Given the description of an element on the screen output the (x, y) to click on. 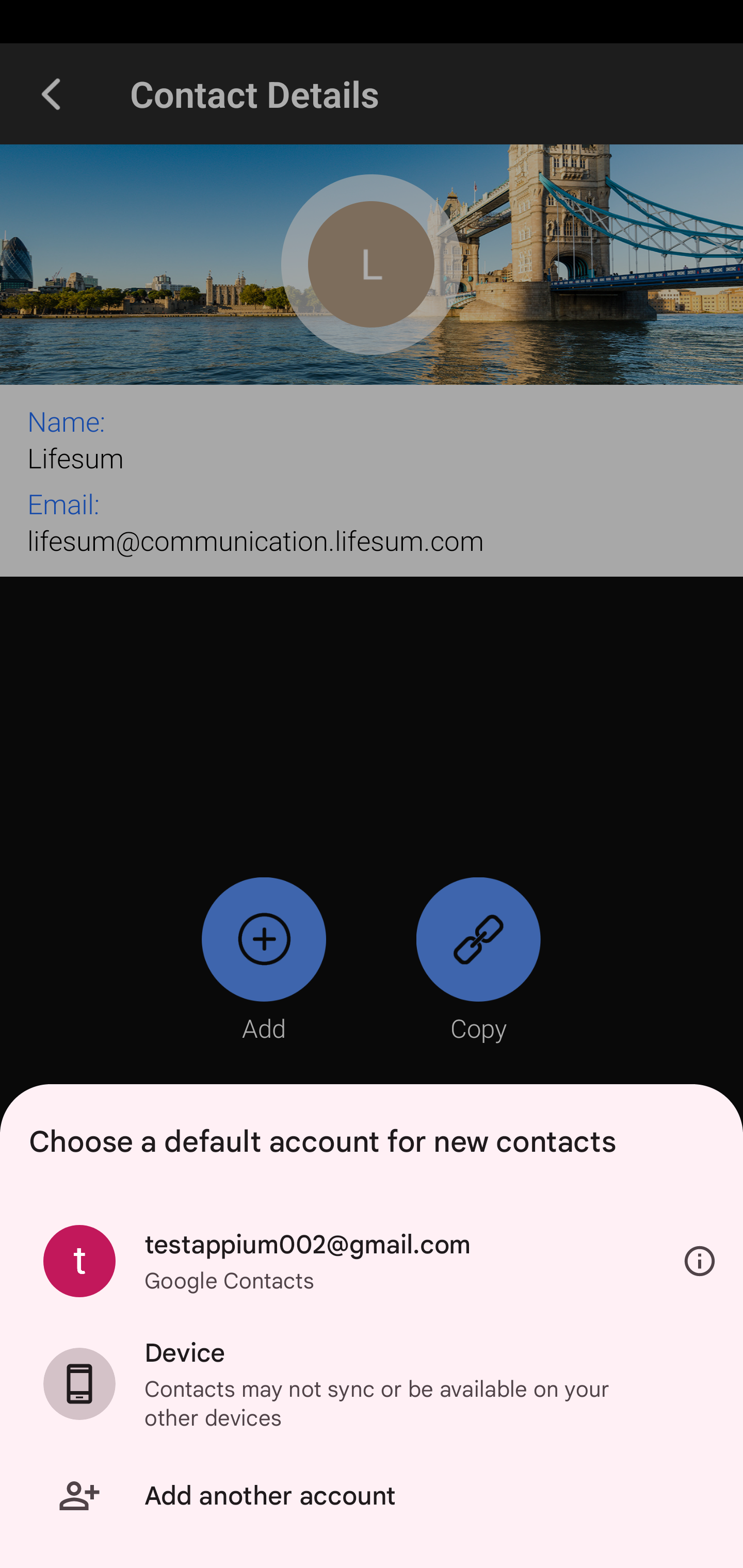
Information about account type (699, 1261)
Add another account (371, 1495)
